Given the description of an element on the screen output the (x, y) to click on. 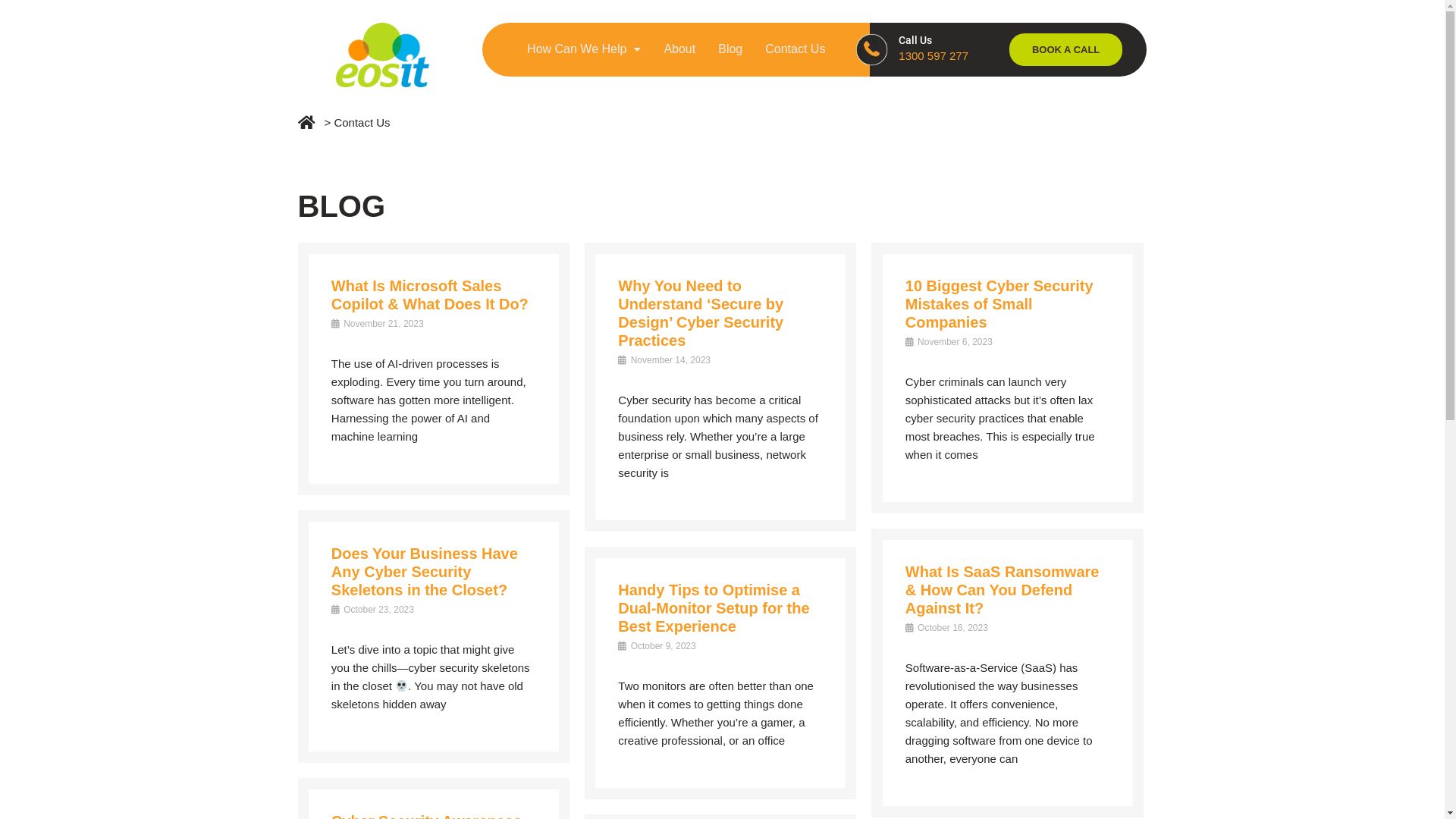
What Is SaaS Ransomware & How Can You Defend Against It? Element type: text (1002, 589)
About Element type: text (679, 48)
Contact Us Element type: text (794, 48)
How Can We Help Element type: text (583, 48)
What Is Microsoft Sales Copilot & What Does It Do? Element type: text (429, 294)
10 Biggest Cyber Security Mistakes of Small Companies Element type: text (999, 303)
Blog Element type: text (729, 48)
BOOK A CALL Element type: text (1065, 49)
